Given the description of an element on the screen output the (x, y) to click on. 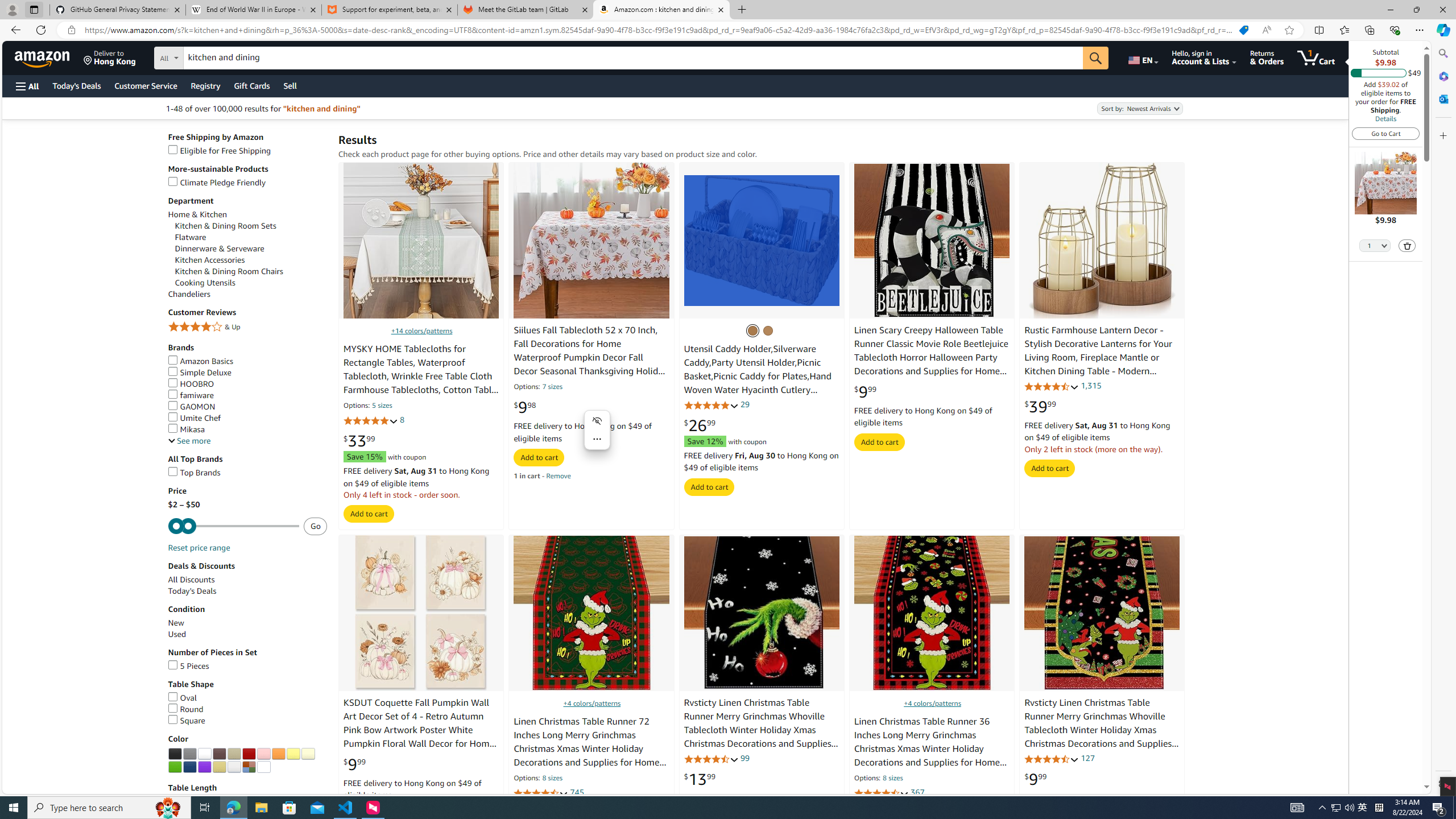
Skip to main search results (50, 788)
Grey (189, 753)
5 Pieces (247, 665)
Mini menu on text selection (596, 436)
Top Brands (247, 472)
Eligible for Free Shipping (247, 150)
8 (402, 420)
Cooking Utensils (204, 282)
Home & Kitchen (247, 214)
